Given the description of an element on the screen output the (x, y) to click on. 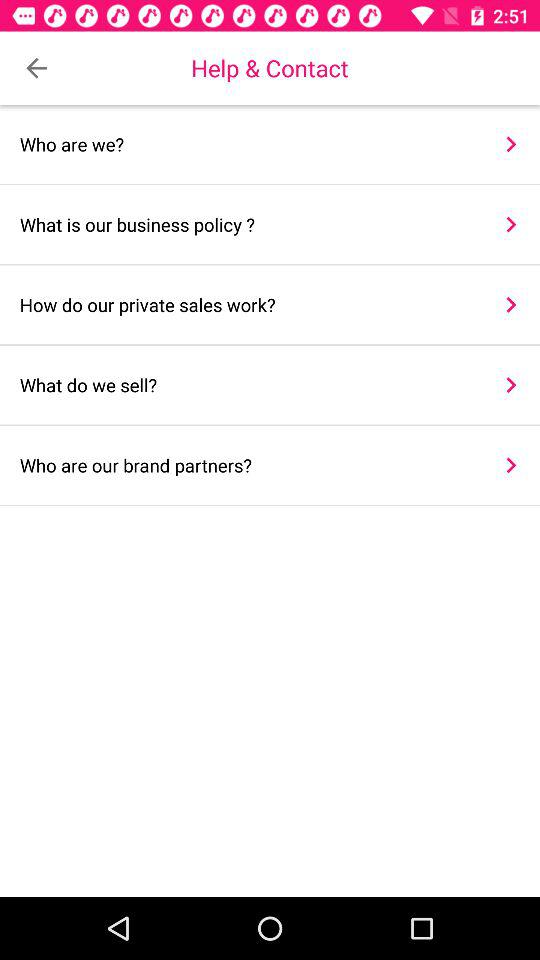
select item to the right of the what do we item (510, 384)
